Given the description of an element on the screen output the (x, y) to click on. 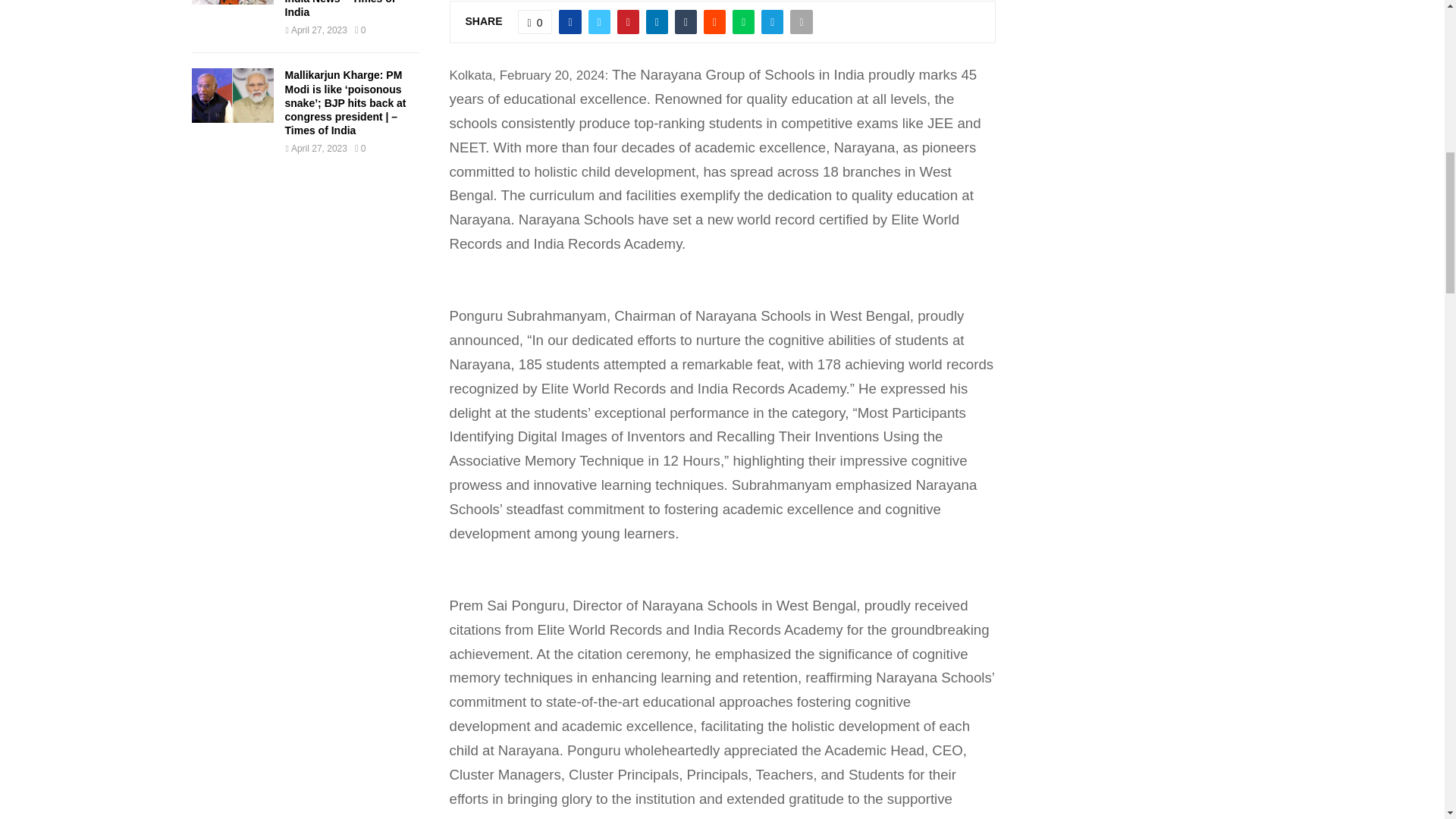
Like (535, 21)
